Given the description of an element on the screen output the (x, y) to click on. 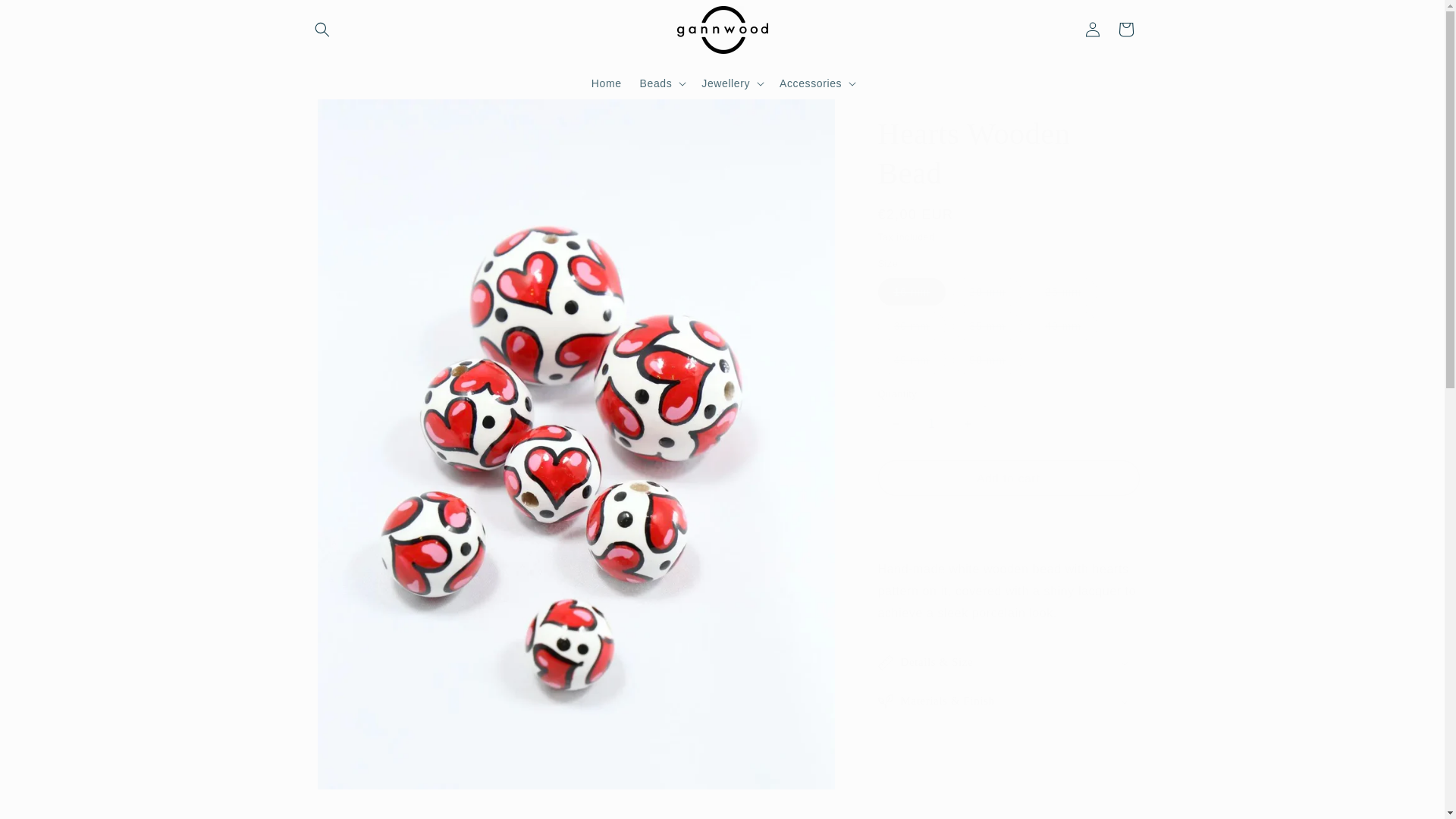
Cart (1124, 29)
1 (931, 423)
Skip to content (45, 17)
Log in (1091, 29)
Skip to product information (350, 116)
Home (606, 82)
